Given the description of an element on the screen output the (x, y) to click on. 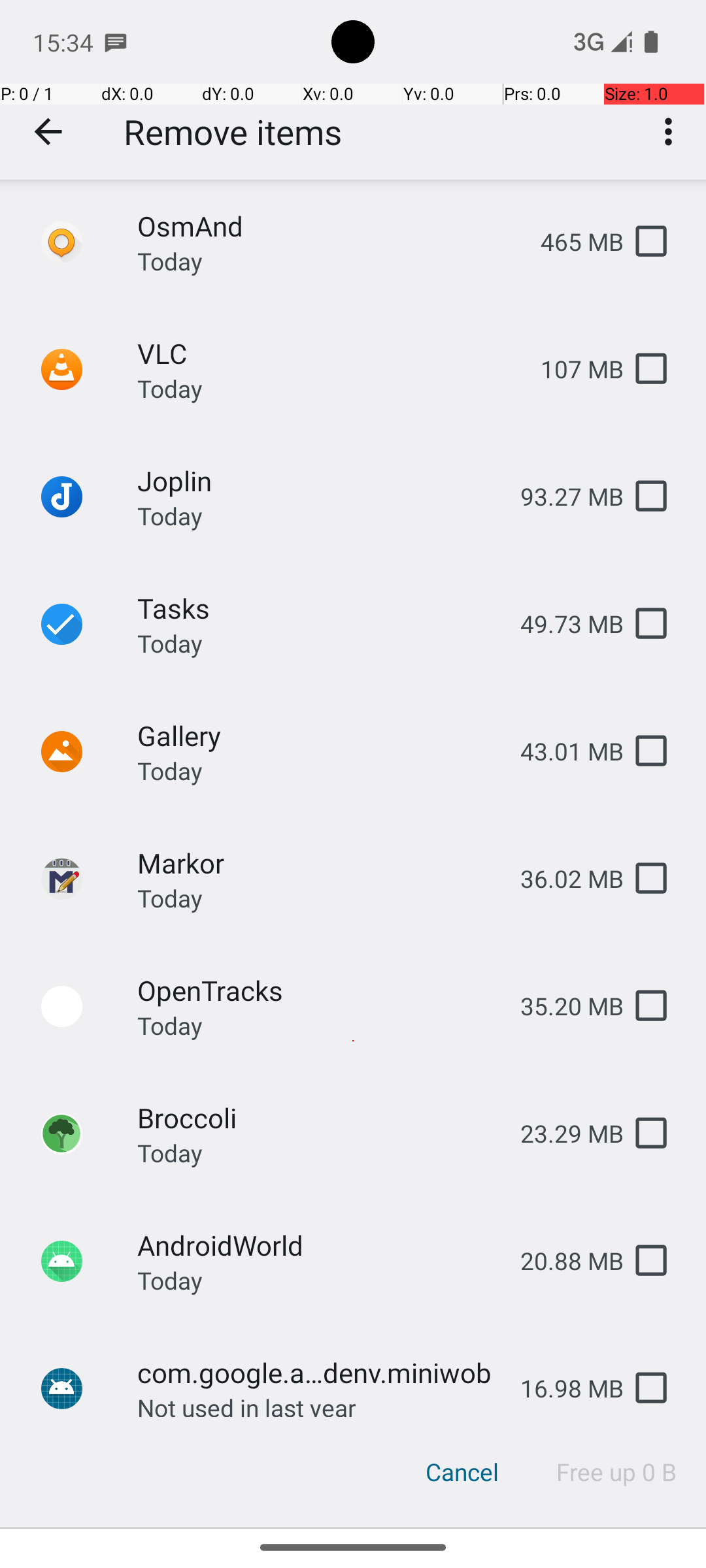
Remove items Element type: android.widget.TextView (232, 131)
Free up 0 B Element type: android.widget.Button (616, 1471)
465 MB Element type: android.widget.TextView (571, 241)
107 MB Element type: android.widget.TextView (571, 368)
93.27 MB Element type: android.widget.TextView (561, 495)
49.73 MB Element type: android.widget.TextView (561, 623)
43.01 MB Element type: android.widget.TextView (561, 750)
36.02 MB Element type: android.widget.TextView (561, 878)
35.20 MB Element type: android.widget.TextView (561, 1005)
23.29 MB Element type: android.widget.TextView (561, 1132)
20.88 MB Element type: android.widget.TextView (561, 1260)
com.google.androidenv.miniwob Element type: android.widget.TextView (318, 1371)
Not used in last year Element type: android.widget.TextView (246, 1403)
16.98 MB Element type: android.widget.TextView (561, 1387)
